Given the description of an element on the screen output the (x, y) to click on. 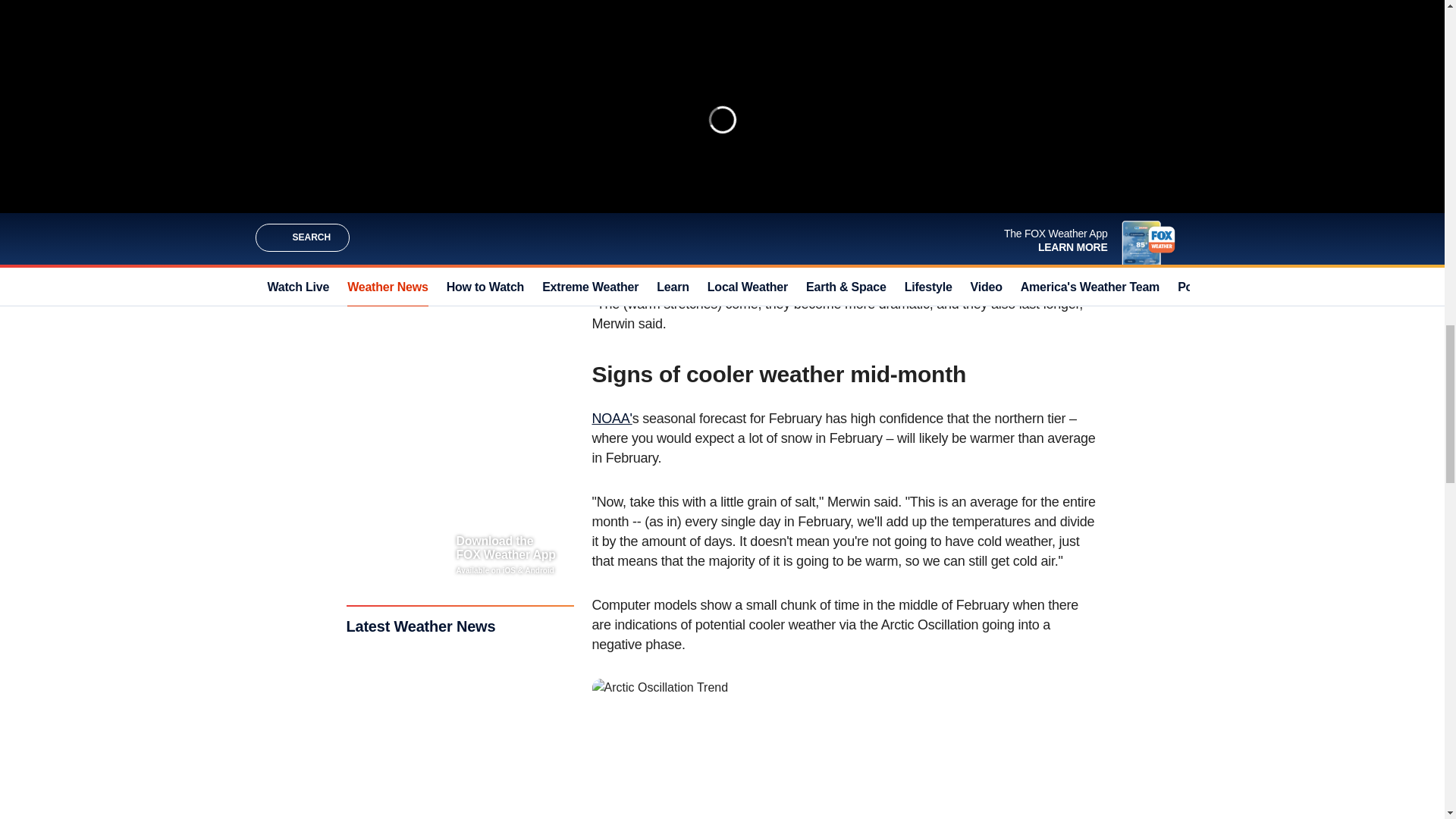
Colorado (974, 176)
NOAA' (611, 418)
THESE ARE THE 7 SNOWIEST CITIES IN THE US (745, 88)
